Given the description of an element on the screen output the (x, y) to click on. 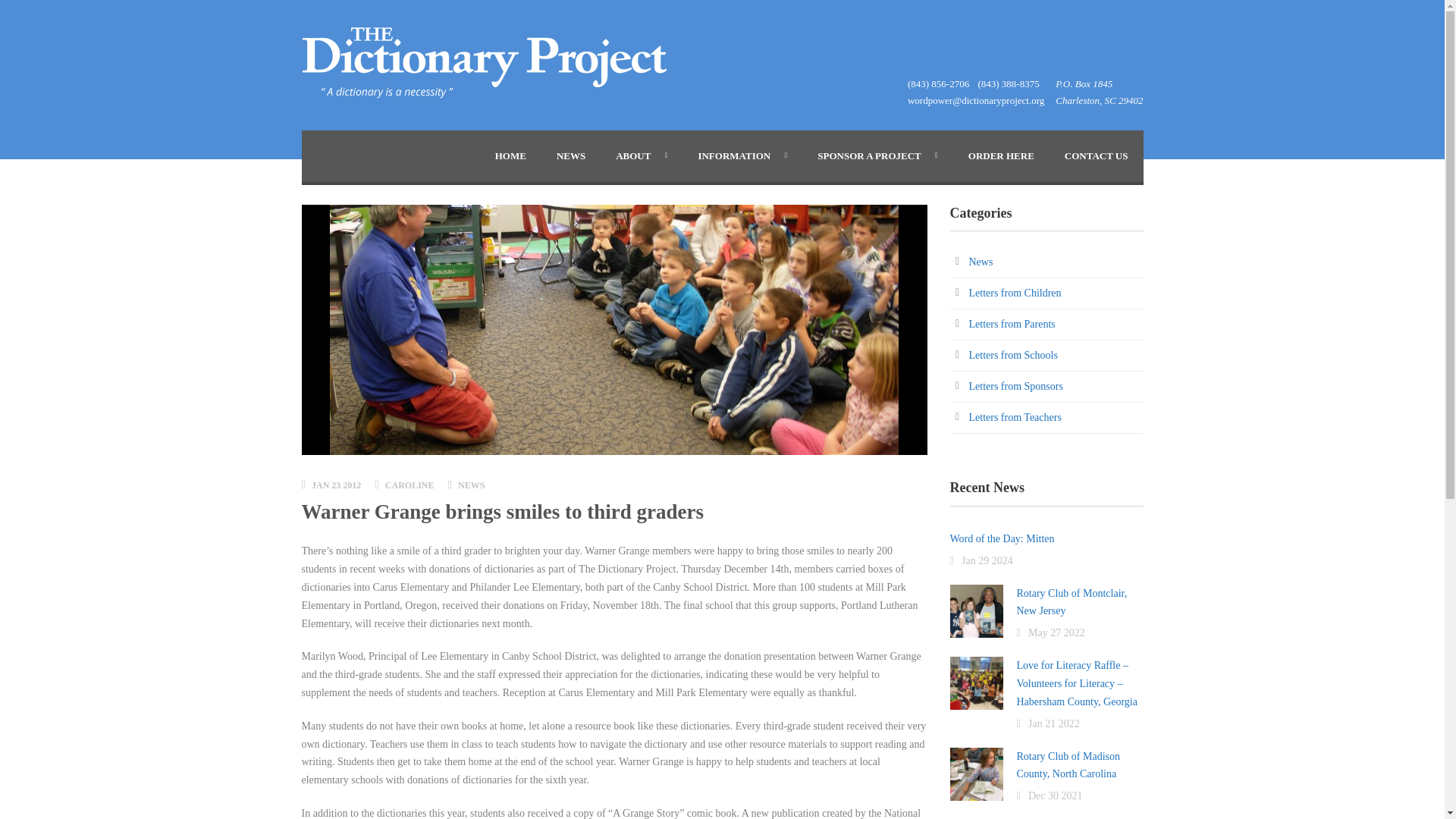
NEWS (570, 155)
ABOUT (640, 155)
Posts by Caroline (409, 484)
HOME (510, 155)
